Given the description of an element on the screen output the (x, y) to click on. 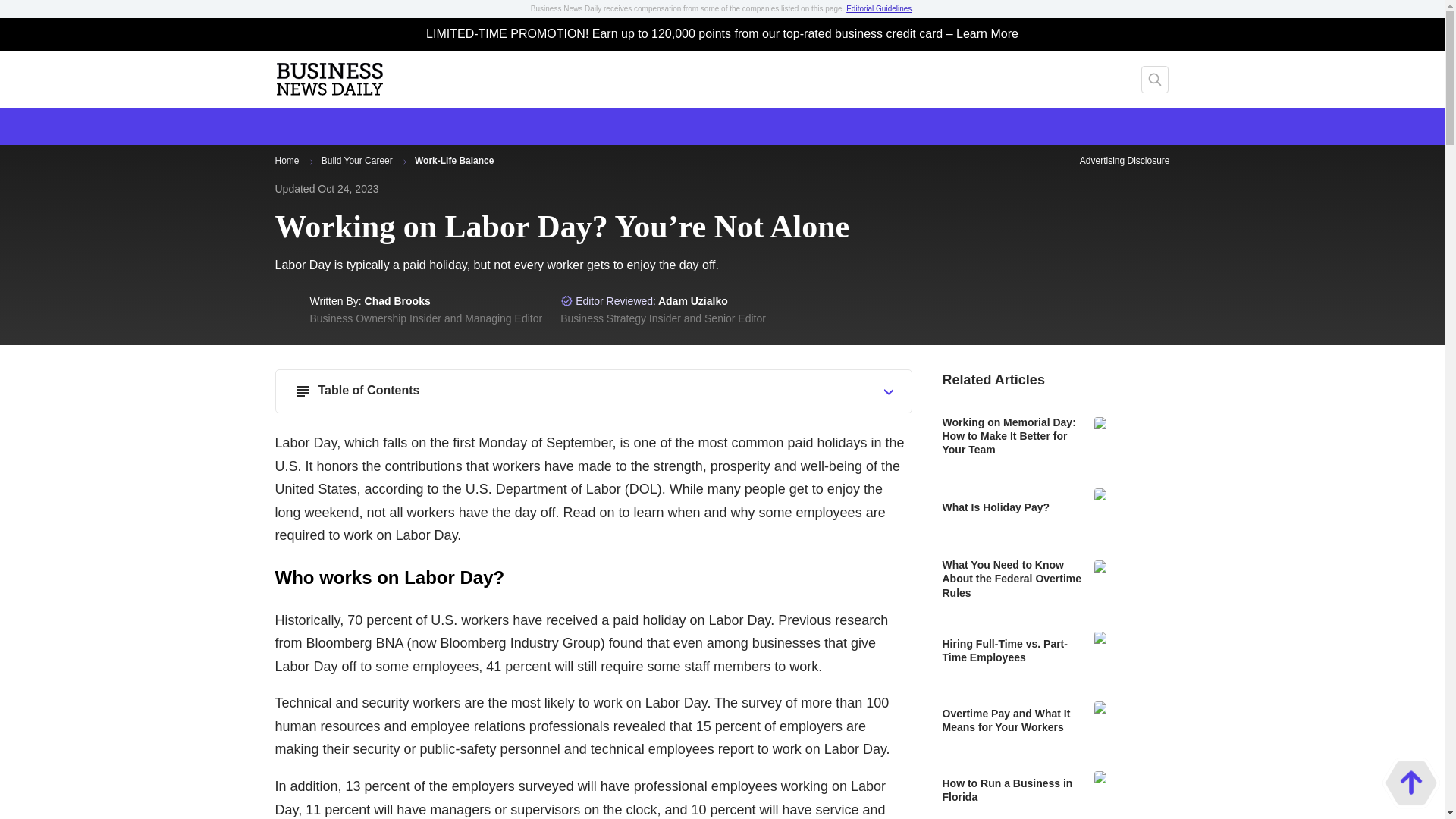
Arrow (311, 160)
Editorial Guidelines (878, 8)
Learn More (986, 34)
Open row (888, 391)
Arrow (404, 160)
Verified Check With Border (566, 300)
